Given the description of an element on the screen output the (x, y) to click on. 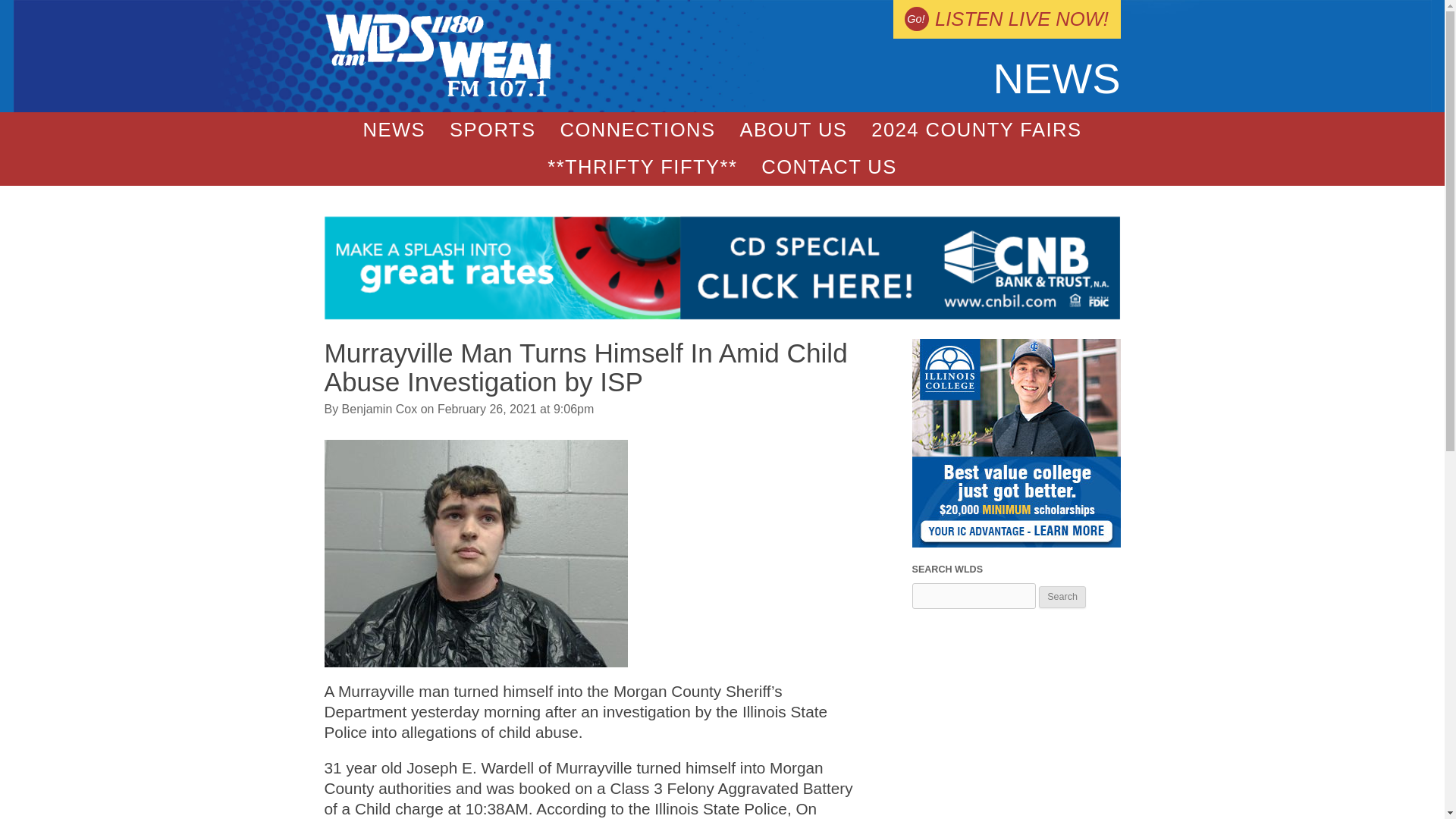
WLDS (437, 92)
Search (1062, 597)
CONTACT US (828, 167)
2024 COUNTY FAIRS (976, 130)
LISTEN LIVE NOW! (1006, 19)
Search (1062, 597)
